Given the description of an element on the screen output the (x, y) to click on. 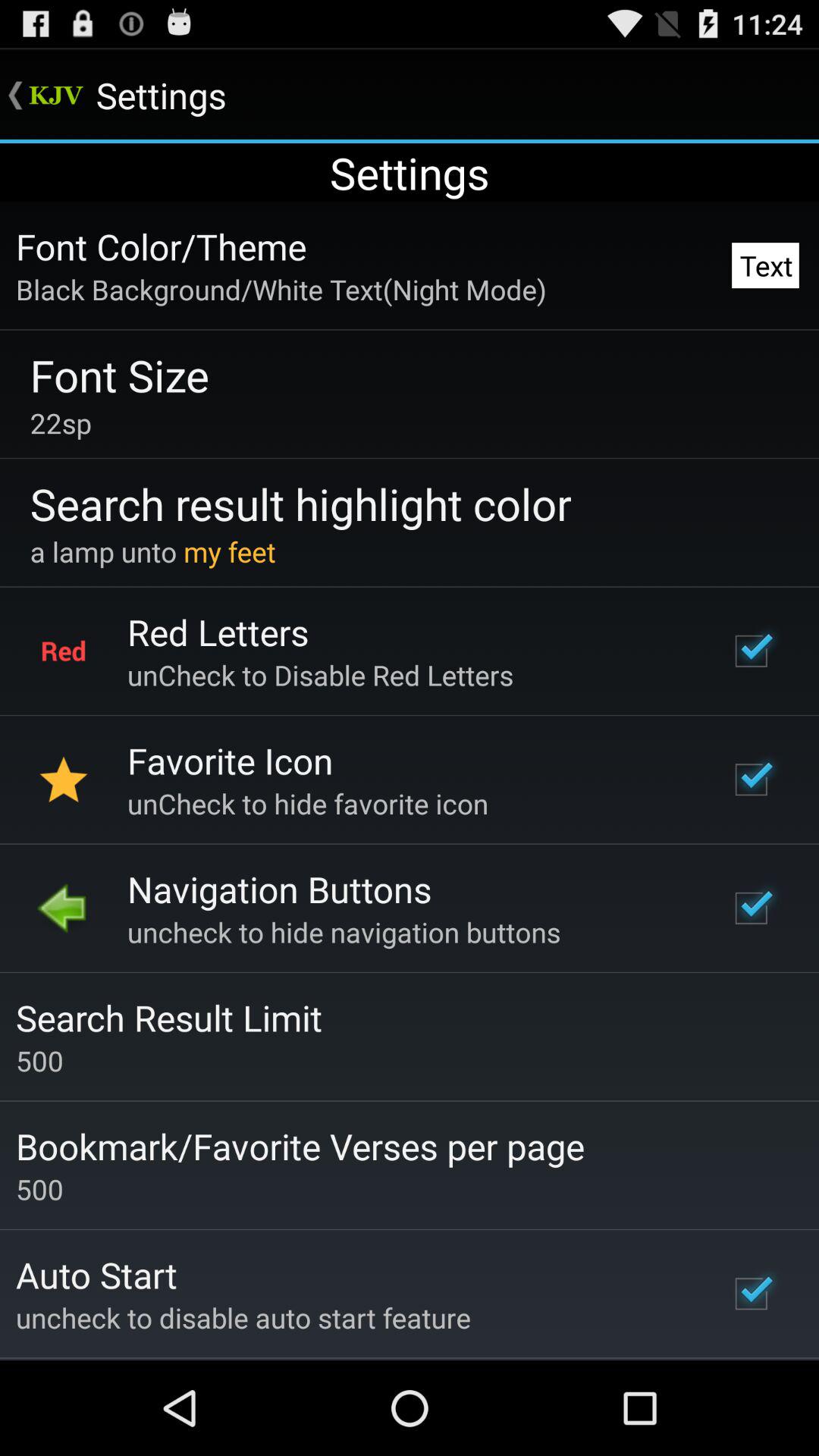
choose the 22sp item (60, 422)
